Given the description of an element on the screen output the (x, y) to click on. 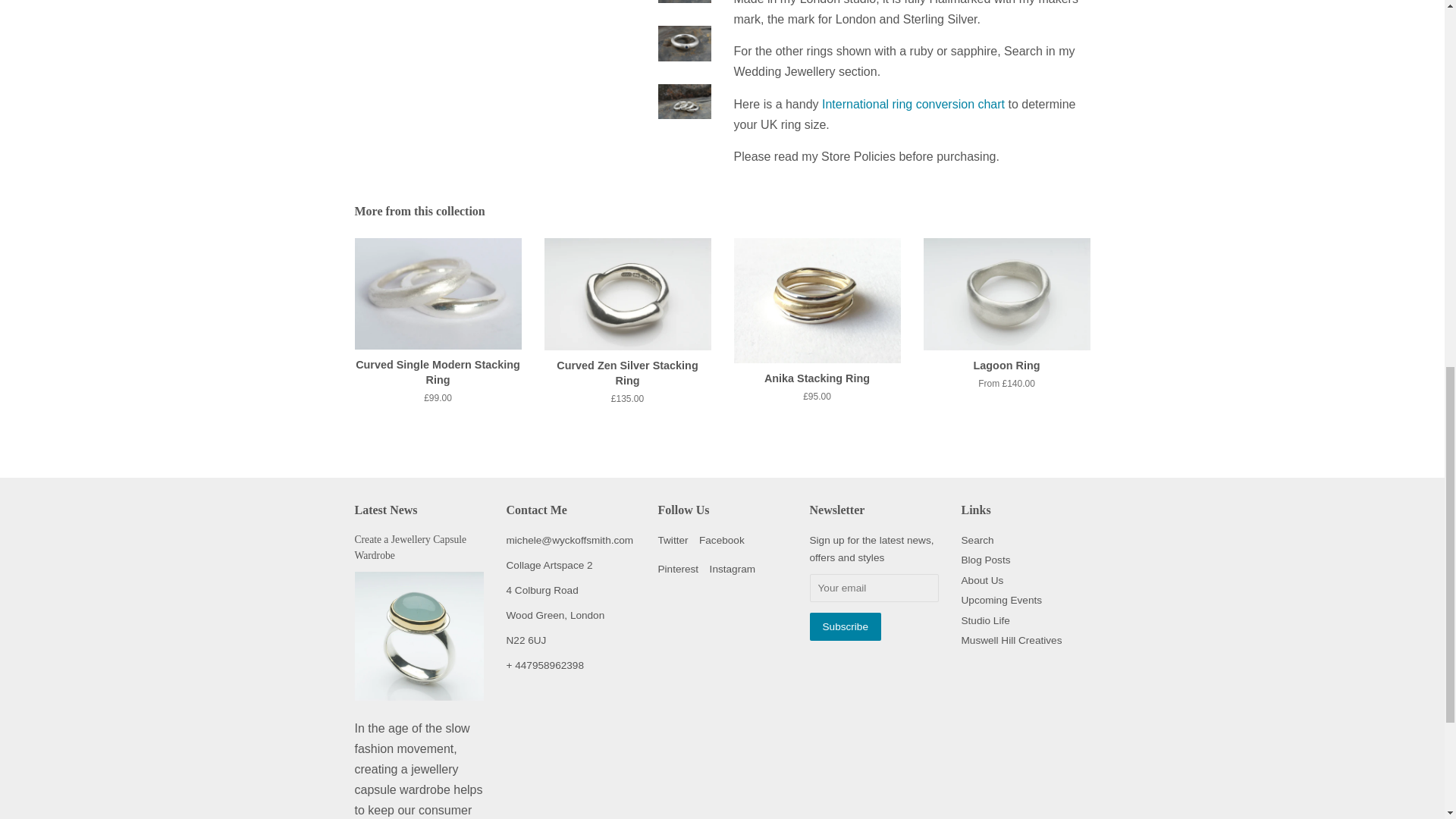
Wyckoff Smith Jewellery on Twitter (673, 540)
Wyckoff Smith Jewellery on Pinterest (678, 568)
Subscribe (844, 626)
Wyckoff Smith Jewellery on Facebook (721, 540)
Wyckoff Smith Jewellery on Instagram (732, 568)
